Given the description of an element on the screen output the (x, y) to click on. 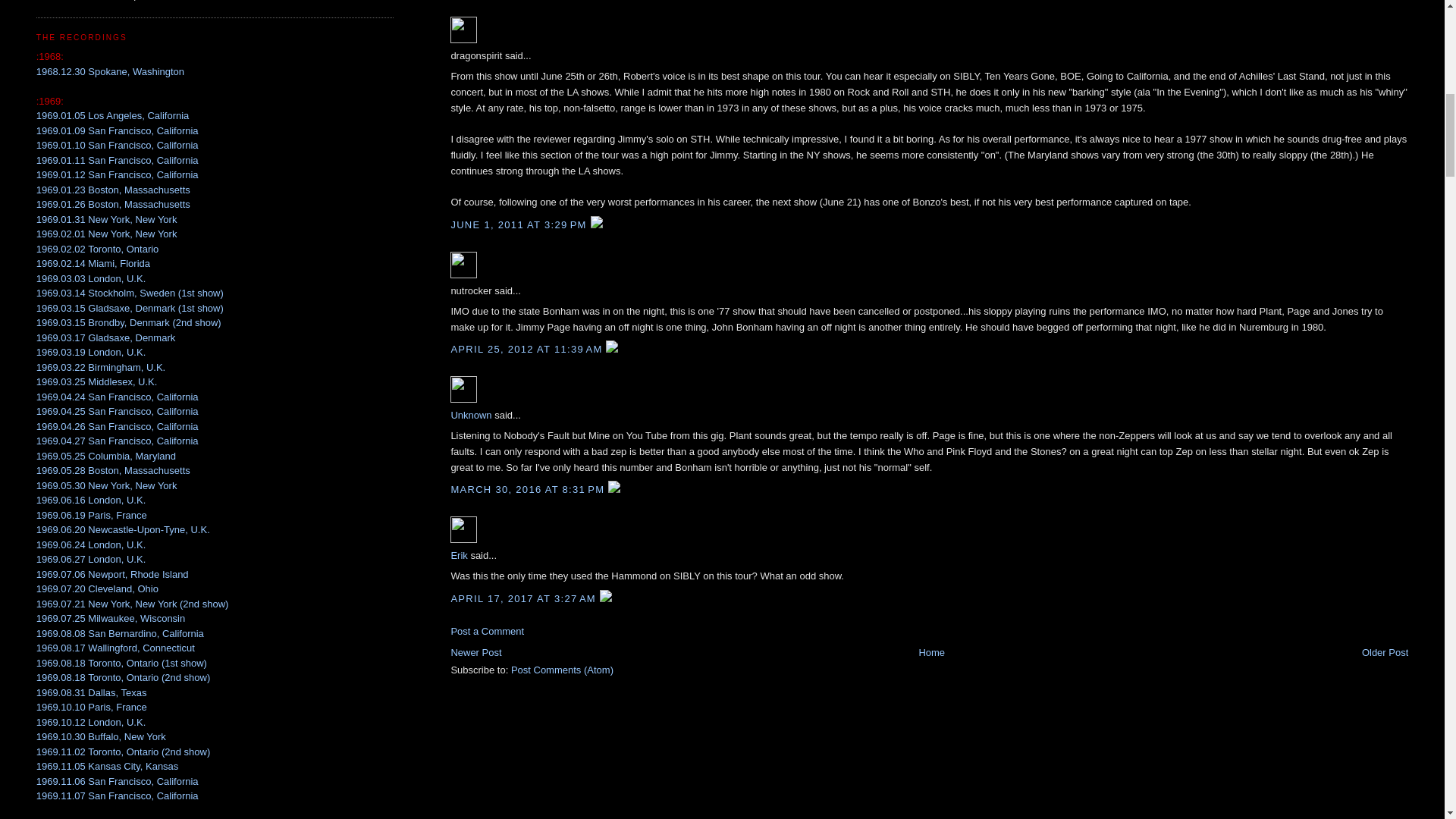
dragonspirit (463, 29)
Delete Comment (596, 224)
comment permalink (519, 224)
nutrocker (463, 264)
